Given the description of an element on the screen output the (x, y) to click on. 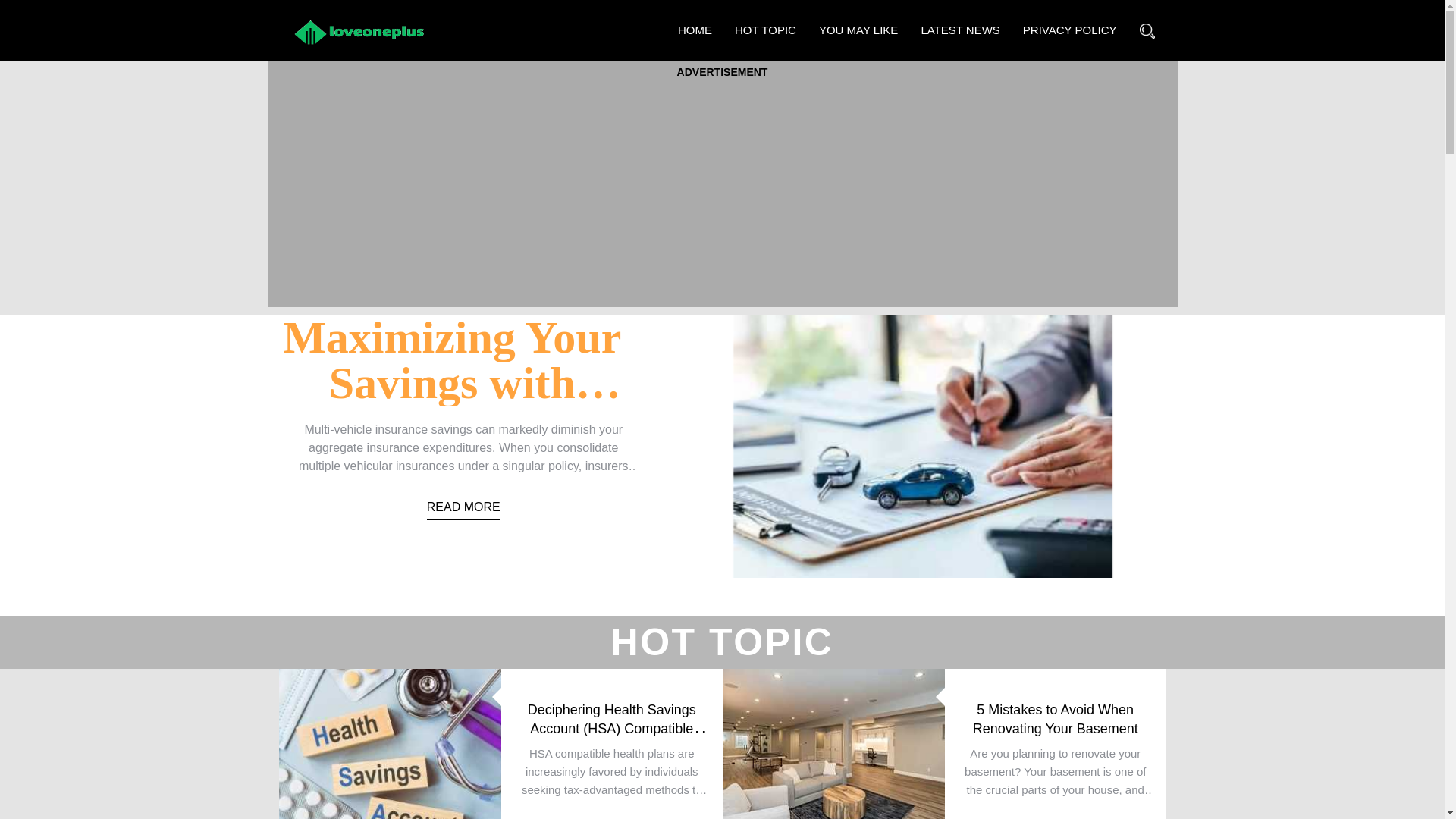
PRIVACY POLICY (1069, 30)
5 Mistakes to Avoid When Renovating Your Basement (1054, 718)
YOU MAY LIKE (858, 30)
Maximizing Your Savings with Multi-Car Insurance Discounts (451, 434)
HOT TOPIC (765, 30)
READ MORE (463, 513)
LATEST NEWS (959, 30)
